Given the description of an element on the screen output the (x, y) to click on. 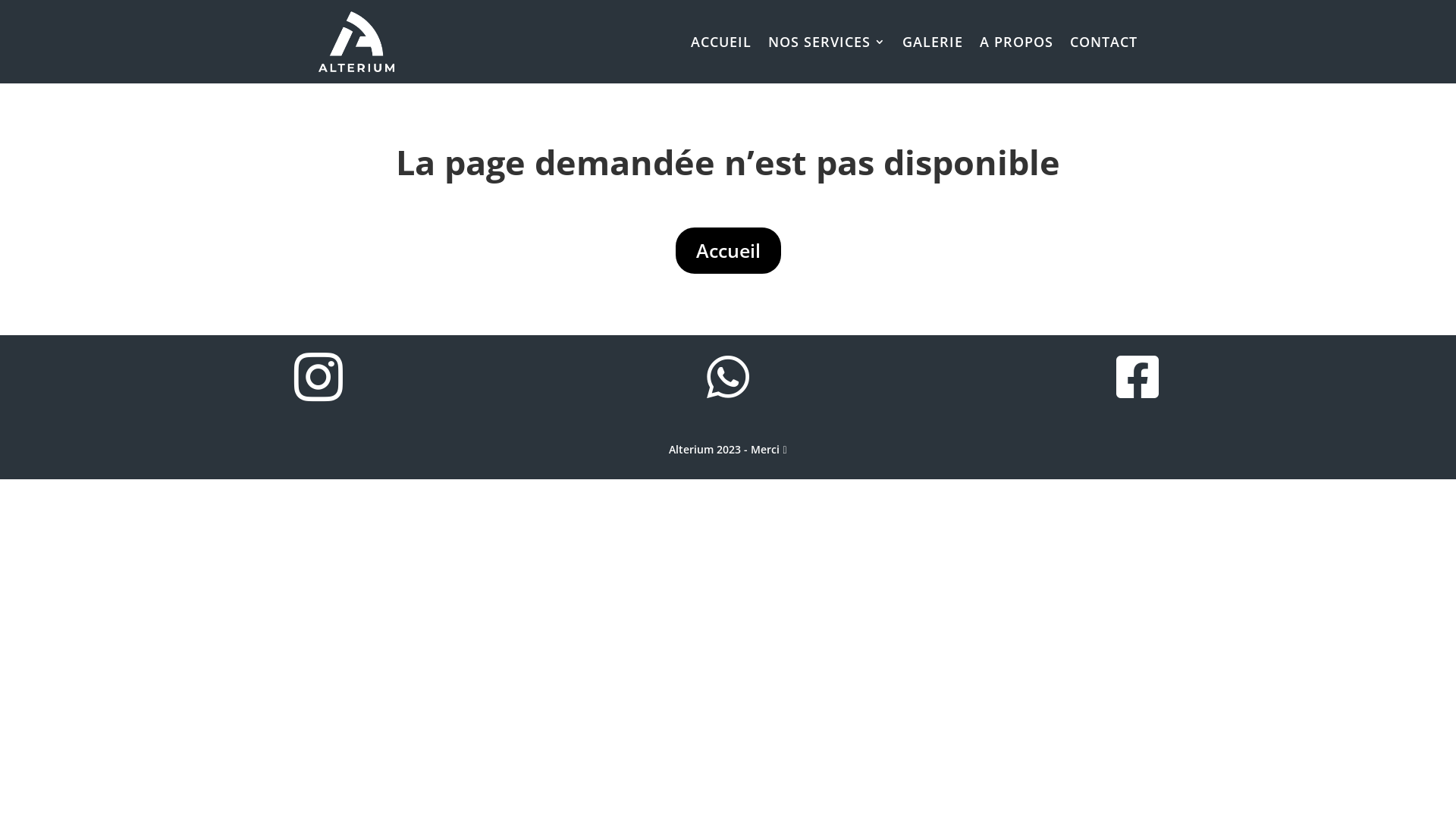
ACCUEIL Element type: text (720, 41)
GALERIE Element type: text (932, 41)
CONTACT Element type: text (1103, 41)
A PROPOS Element type: text (1016, 41)
Accueil Element type: text (727, 250)
NOS SERVICES Element type: text (826, 41)
